Given the description of an element on the screen output the (x, y) to click on. 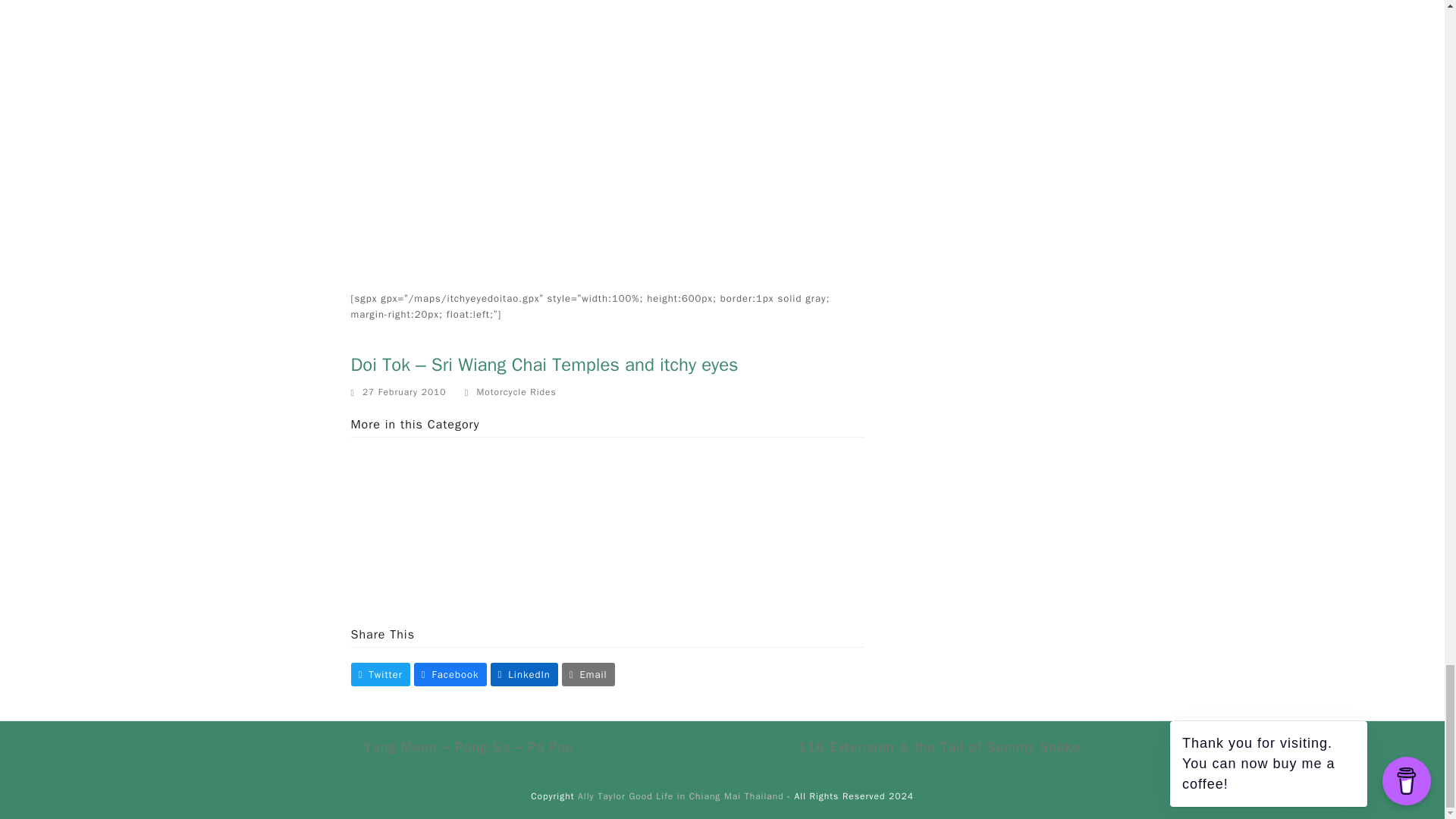
Mae Ya Waterfall end of rainy season (804, 509)
Nakhon Chedi Erawan Cave (408, 509)
Many Cows of Li (673, 509)
